Given the description of an element on the screen output the (x, y) to click on. 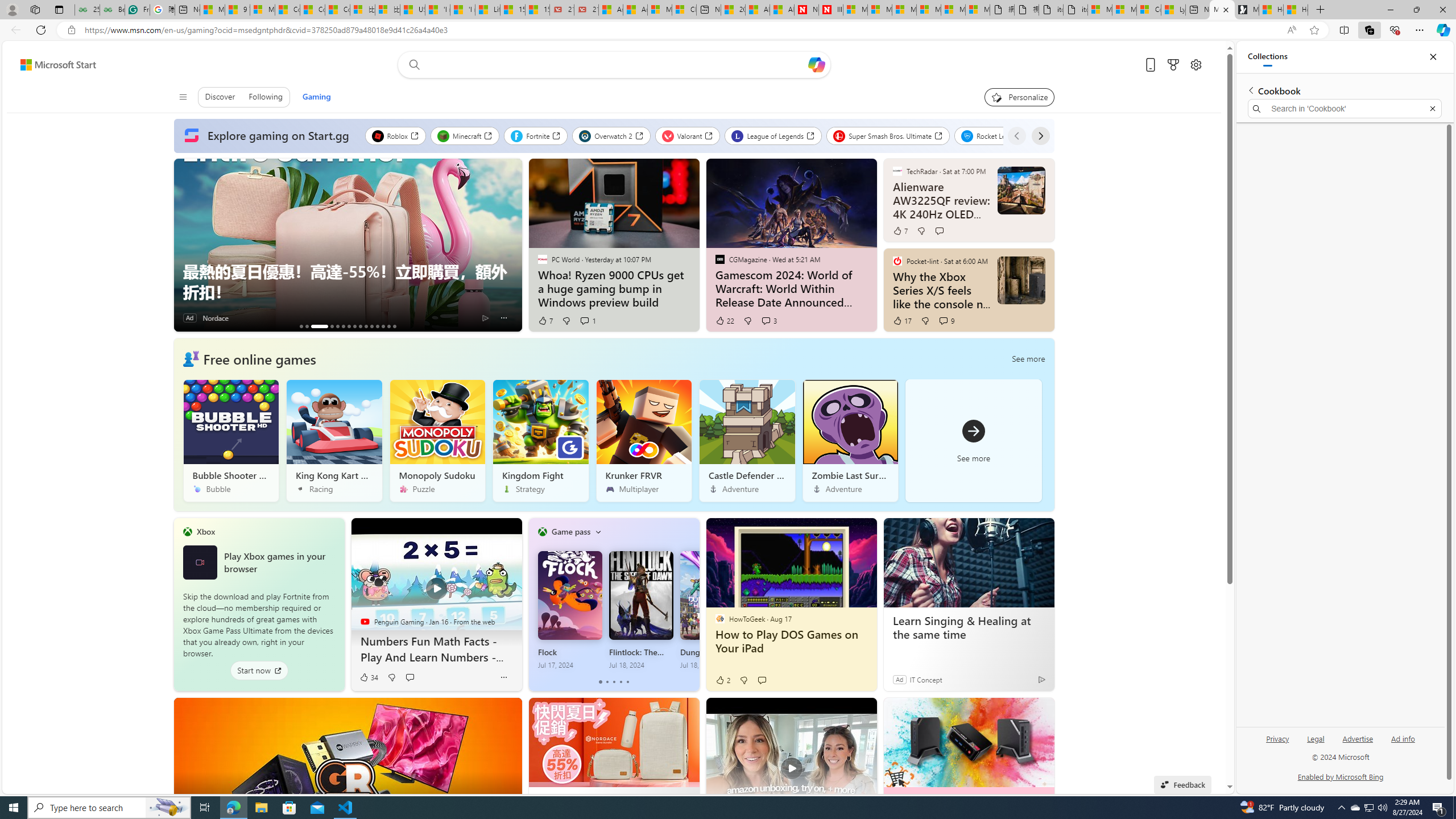
Microsoft account | Privacy (1124, 9)
Enter your search term (617, 64)
Nintendo Consoles With The Most Zelda Games (331, 326)
Krunker FRVR (643, 440)
Search in 'Cookbook' (1345, 108)
Start the conversation (761, 680)
Xbox (205, 531)
Dungeons Of Hinterberg Jul 18, 2024 (711, 610)
15 Ways Modern Life Contradicts the Teachings of Jesus (536, 9)
View comments 3 Comment (769, 320)
Privacy (1277, 742)
Zombie Last Survivor (850, 440)
